Given the description of an element on the screen output the (x, y) to click on. 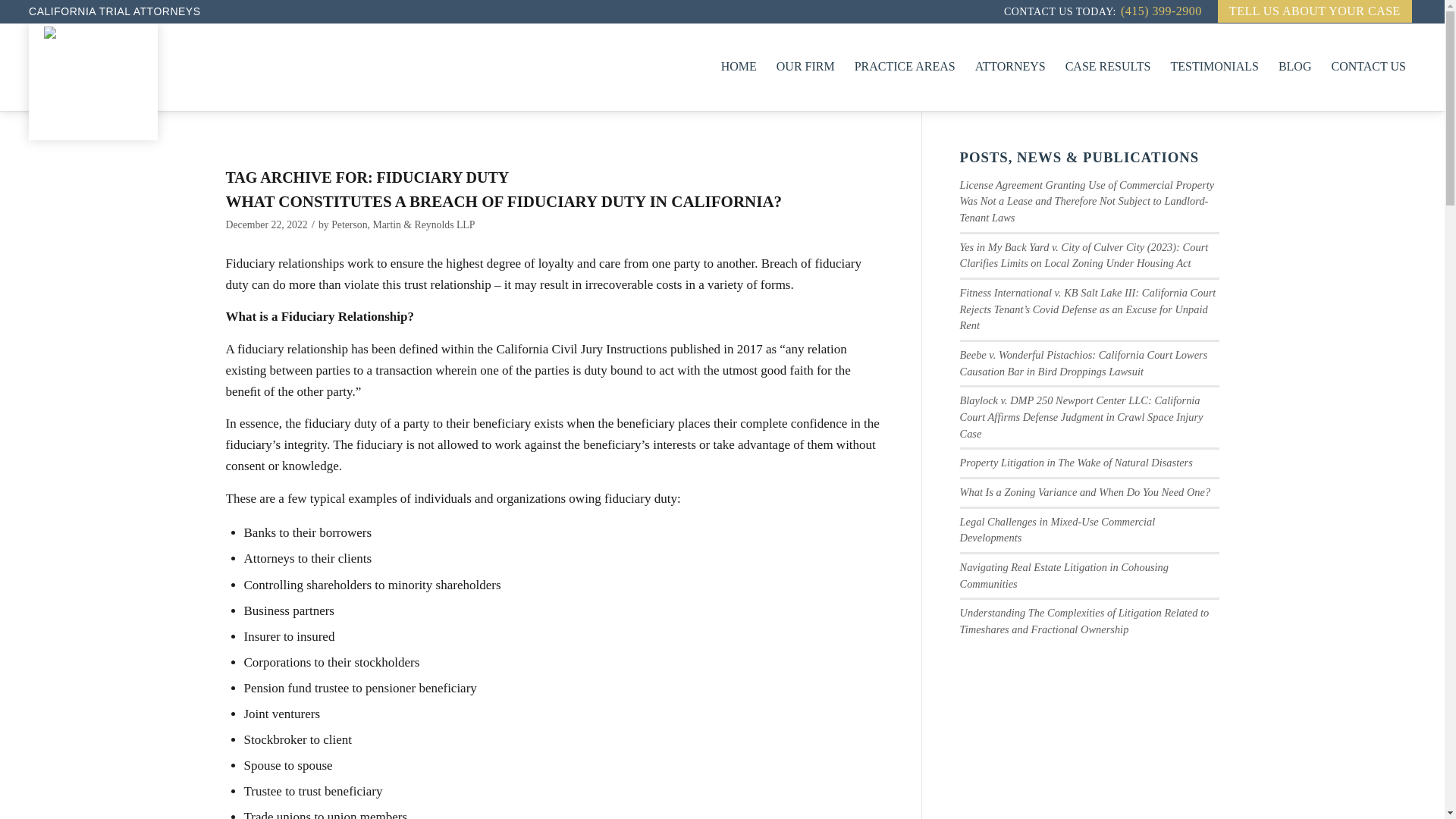
WHAT CONSTITUTES A BREACH OF FIDUCIARY DUTY IN CALIFORNIA? (504, 201)
CONTACT US TODAY: (1060, 11)
CASE RESULTS (1107, 66)
PRACTICE AREAS (904, 66)
TELL US ABOUT YOUR CASE (1314, 11)
ATTORNEYS (1010, 66)
TESTIMONIALS (1214, 66)
CONTACT US (1367, 66)
